Given the description of an element on the screen output the (x, y) to click on. 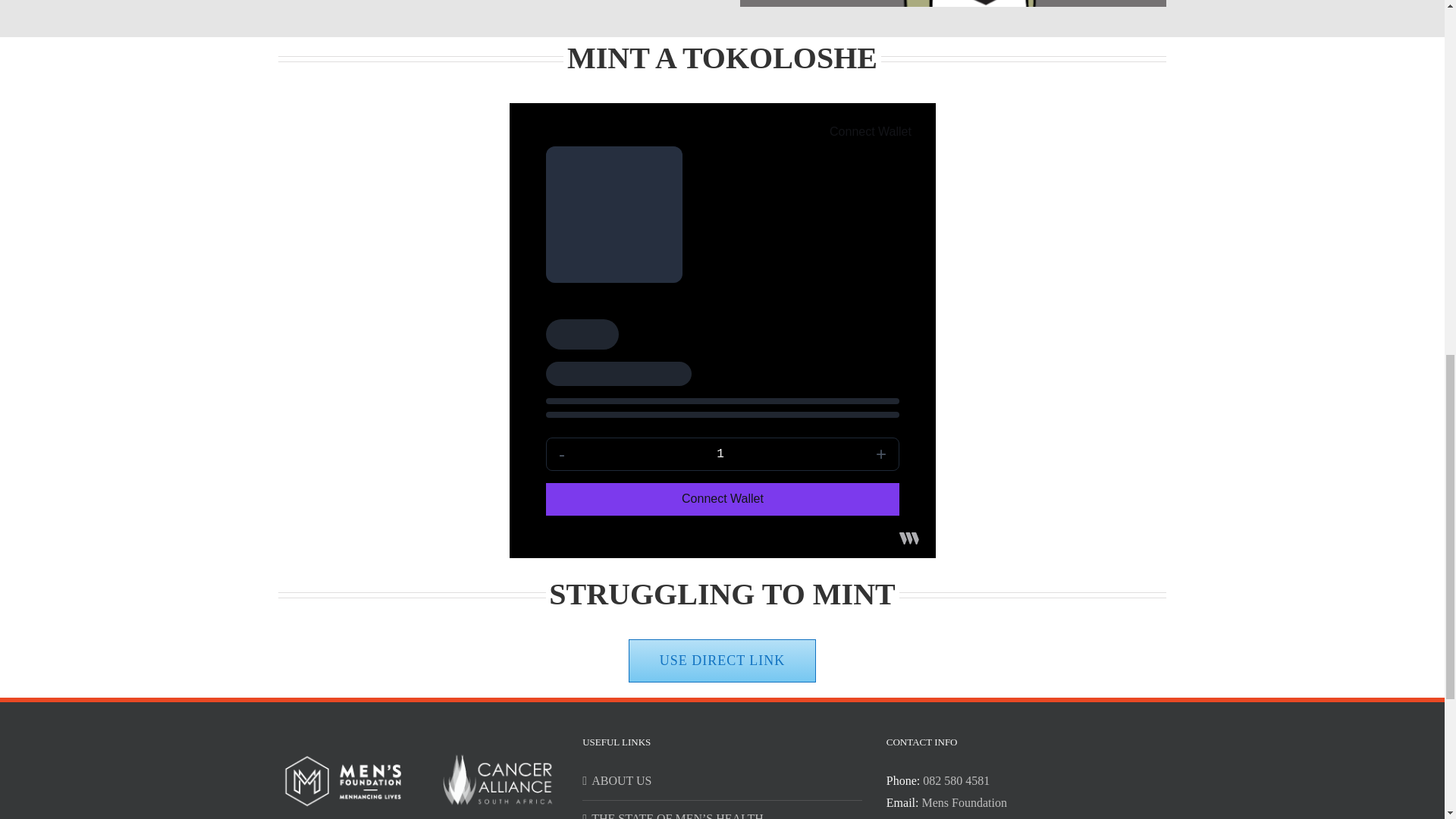
220 (952, 3)
USE DIRECT LINK (722, 660)
Mens Foundation (963, 802)
082 580 4581 (956, 780)
ABOUT US (722, 781)
